Given the description of an element on the screen output the (x, y) to click on. 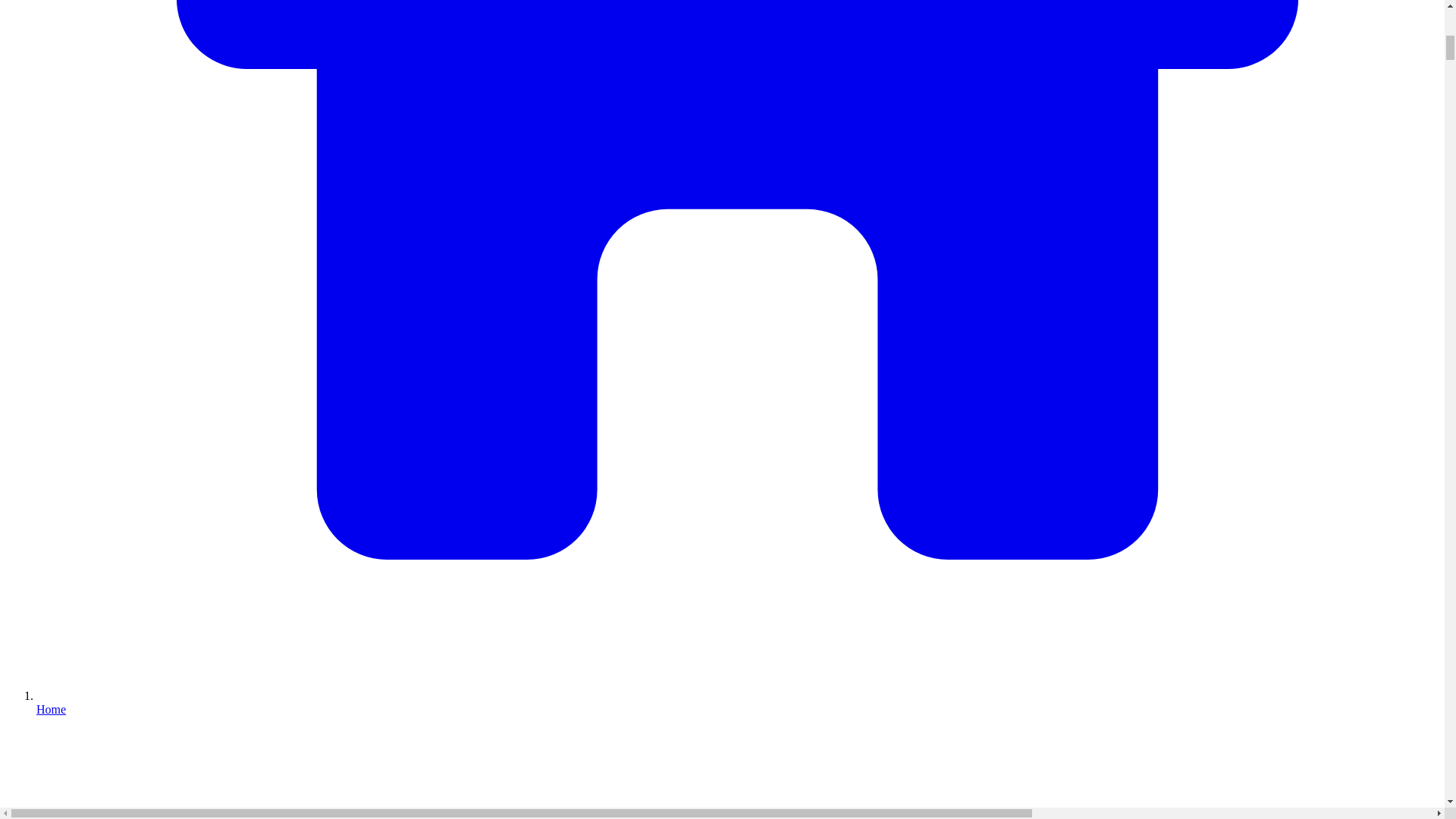
Home (737, 702)
